Given the description of an element on the screen output the (x, y) to click on. 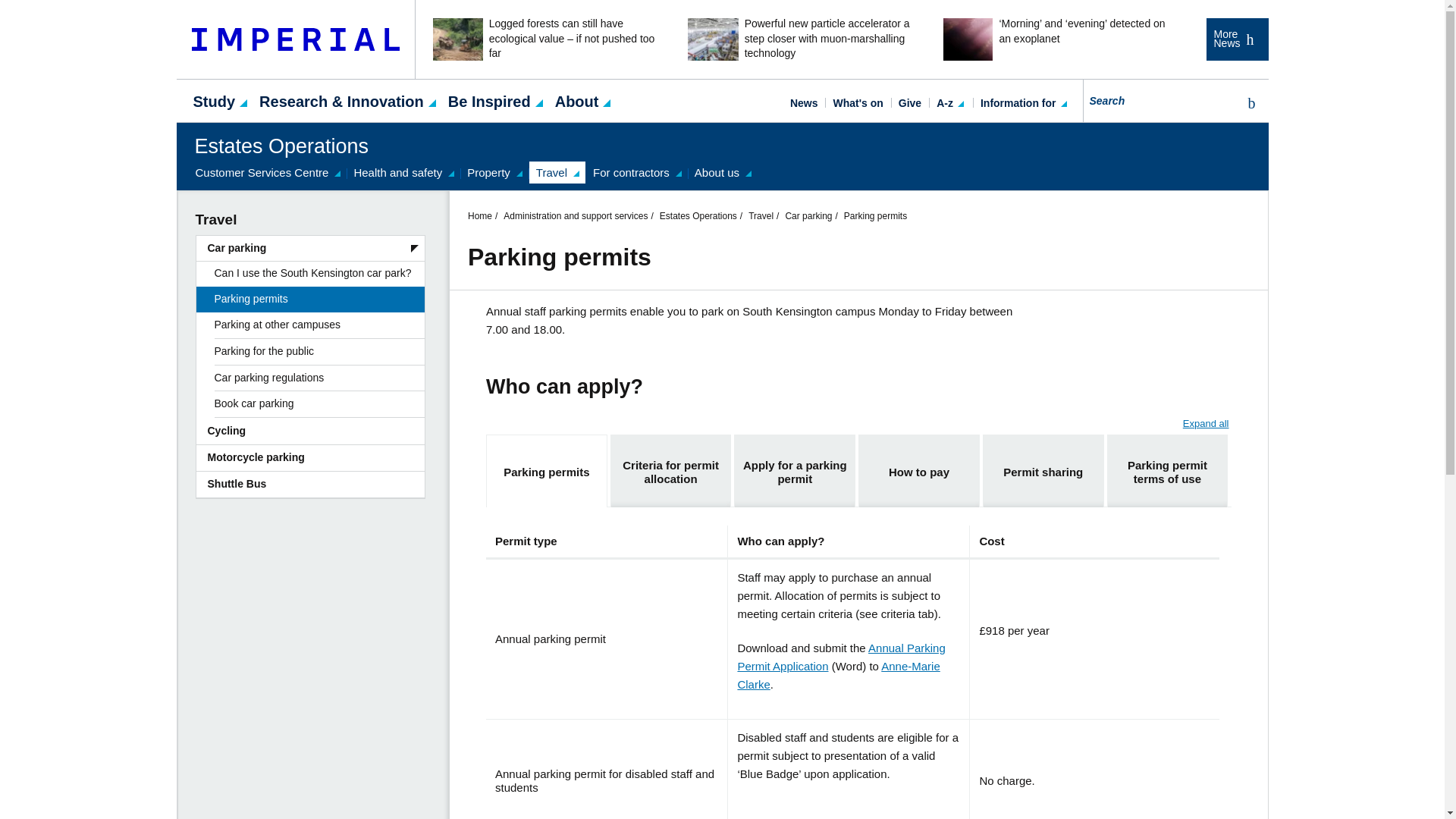
More News (1236, 39)
Anne-Marie Clarke link opens in a new window (837, 675)
Imperial College London (295, 39)
Imperial College London Home (295, 39)
Search (1249, 102)
Study (213, 100)
Search for... (1161, 100)
